Given the description of an element on the screen output the (x, y) to click on. 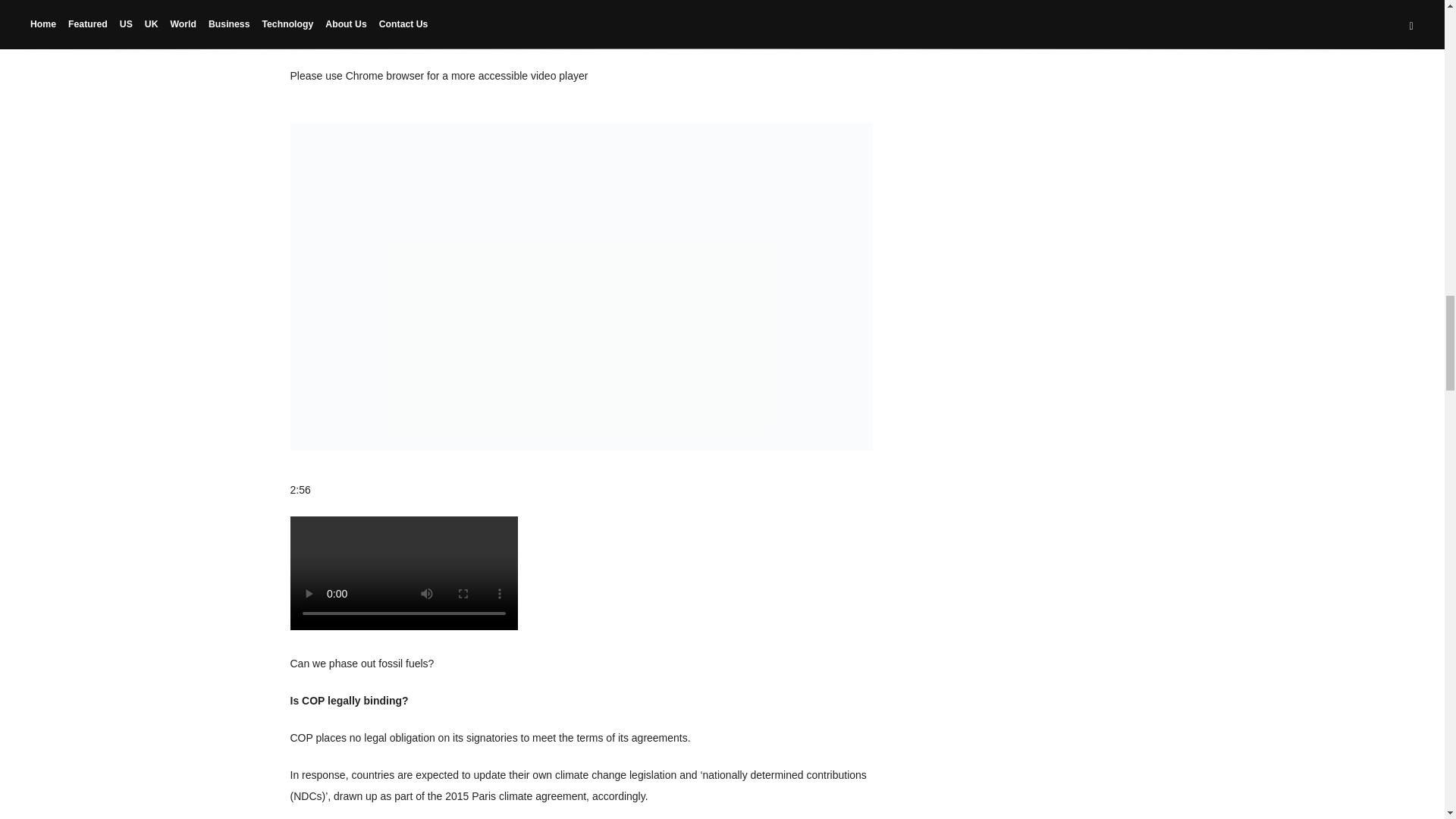
Who is the COP president? (357, 38)
What Lego can tell us about COP28 (378, 1)
